Given the description of an element on the screen output the (x, y) to click on. 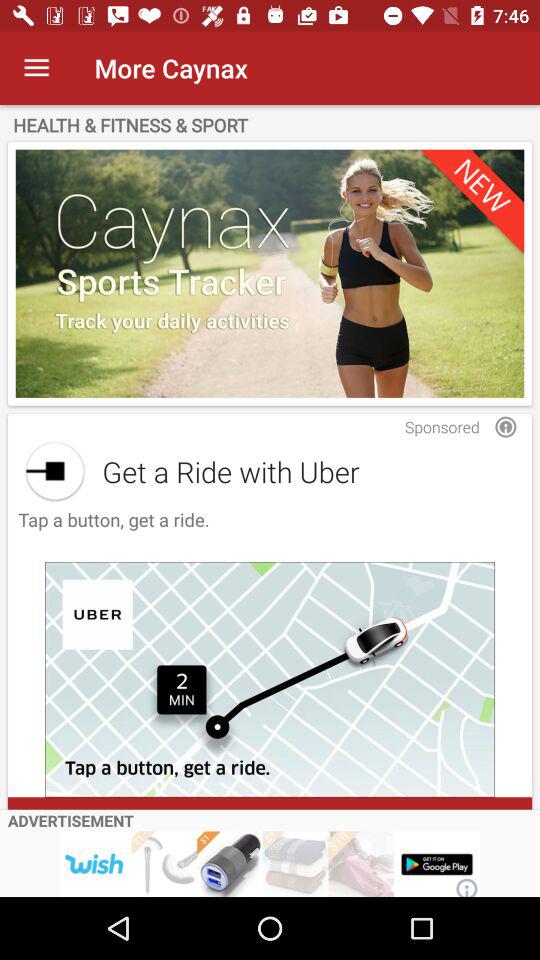
click on the option which says new  (269, 273)
select the text tap a button get a ride (110, 529)
click on the icon beside get a ride with uber (54, 471)
